Given the description of an element on the screen output the (x, y) to click on. 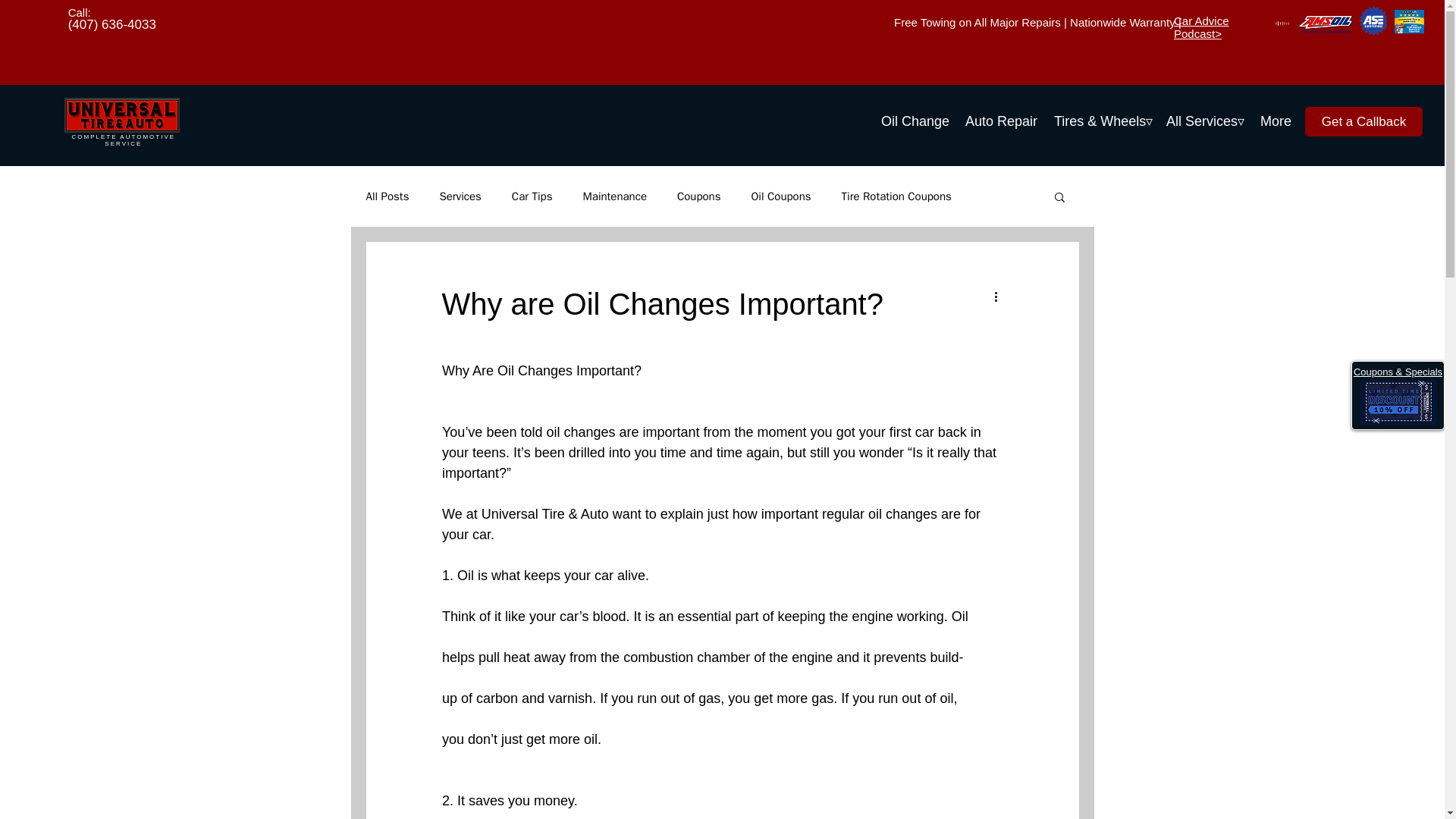
Services (459, 196)
Oil Change (912, 114)
Maintenance (614, 196)
COMPLETE AUTOMOTIVE SERVICE (123, 140)
Oil Coupons (780, 196)
All Posts (387, 196)
Get a Callback (1363, 121)
Car Tips (532, 196)
Auto Repair (999, 114)
Tire Rotation Coupons (896, 196)
